Given the description of an element on the screen output the (x, y) to click on. 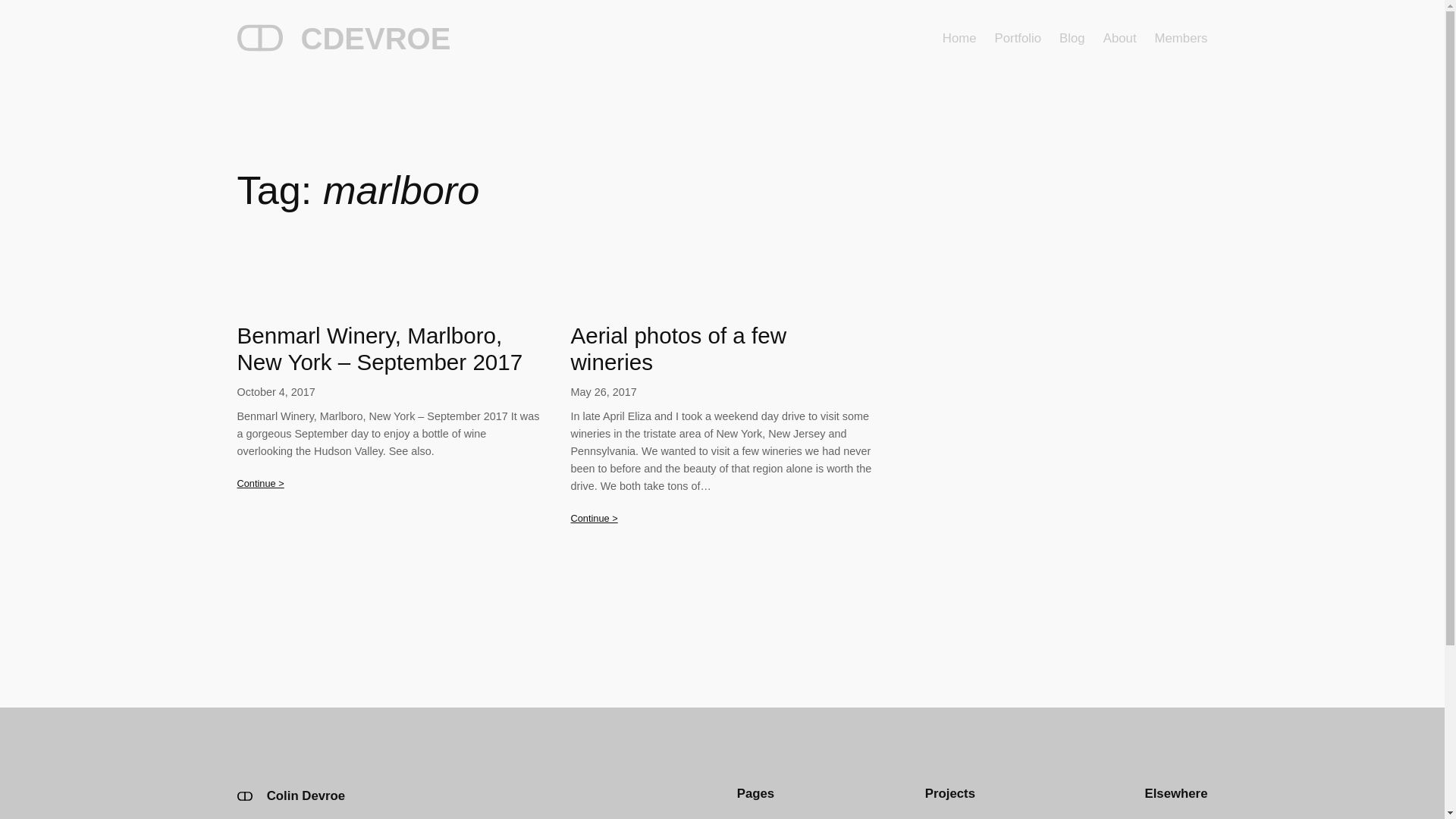
Hubbub - The best social sharing plugin for WordPress (943, 817)
Home (750, 817)
Colin Devroe (306, 795)
May 26, 2017 (603, 391)
Home (959, 38)
Aerial photos of a few wineries (721, 348)
CDEVROE (374, 38)
About (1120, 38)
Blog (1071, 38)
October 4, 2017 (274, 391)
